Given the description of an element on the screen output the (x, y) to click on. 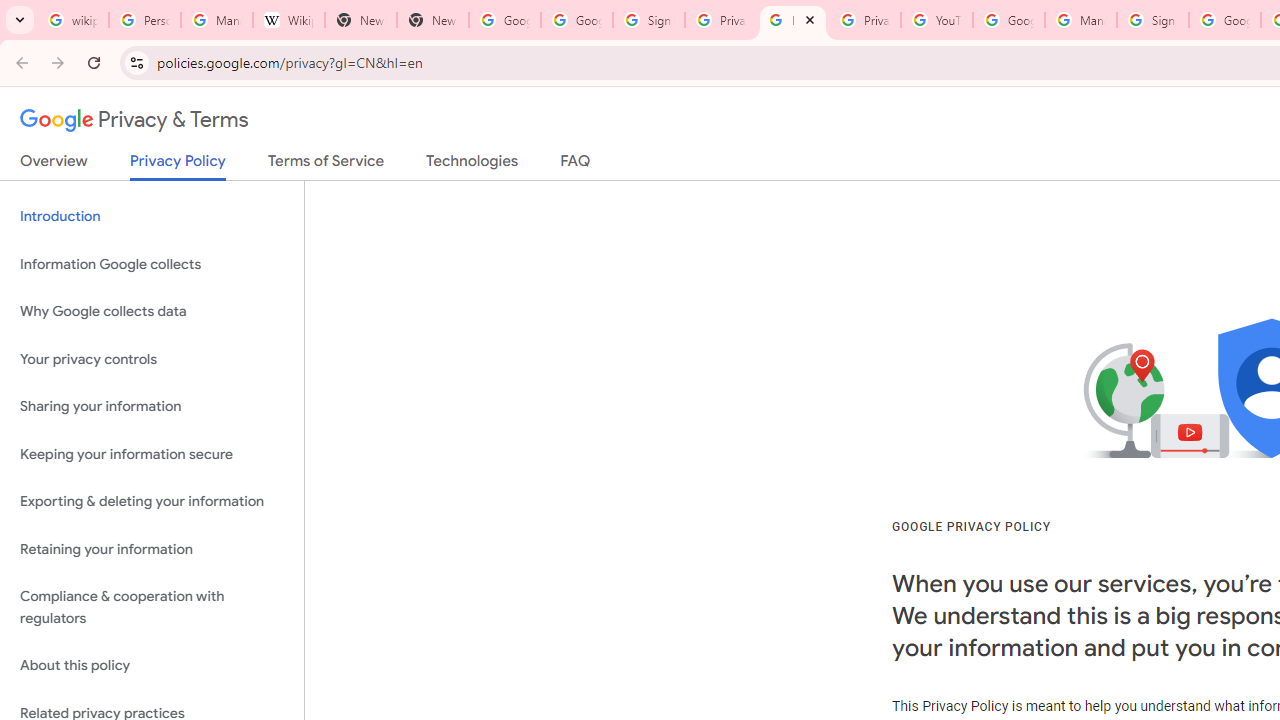
Overview (54, 165)
Sign in - Google Accounts (1153, 20)
Wikipedia:Edit requests - Wikipedia (289, 20)
Sharing your information (152, 407)
Technologies (472, 165)
Your privacy controls (152, 358)
Retaining your information (152, 548)
Google Account Help (1008, 20)
Exporting & deleting your information (152, 502)
YouTube (936, 20)
Privacy Policy (177, 166)
